Given the description of an element on the screen output the (x, y) to click on. 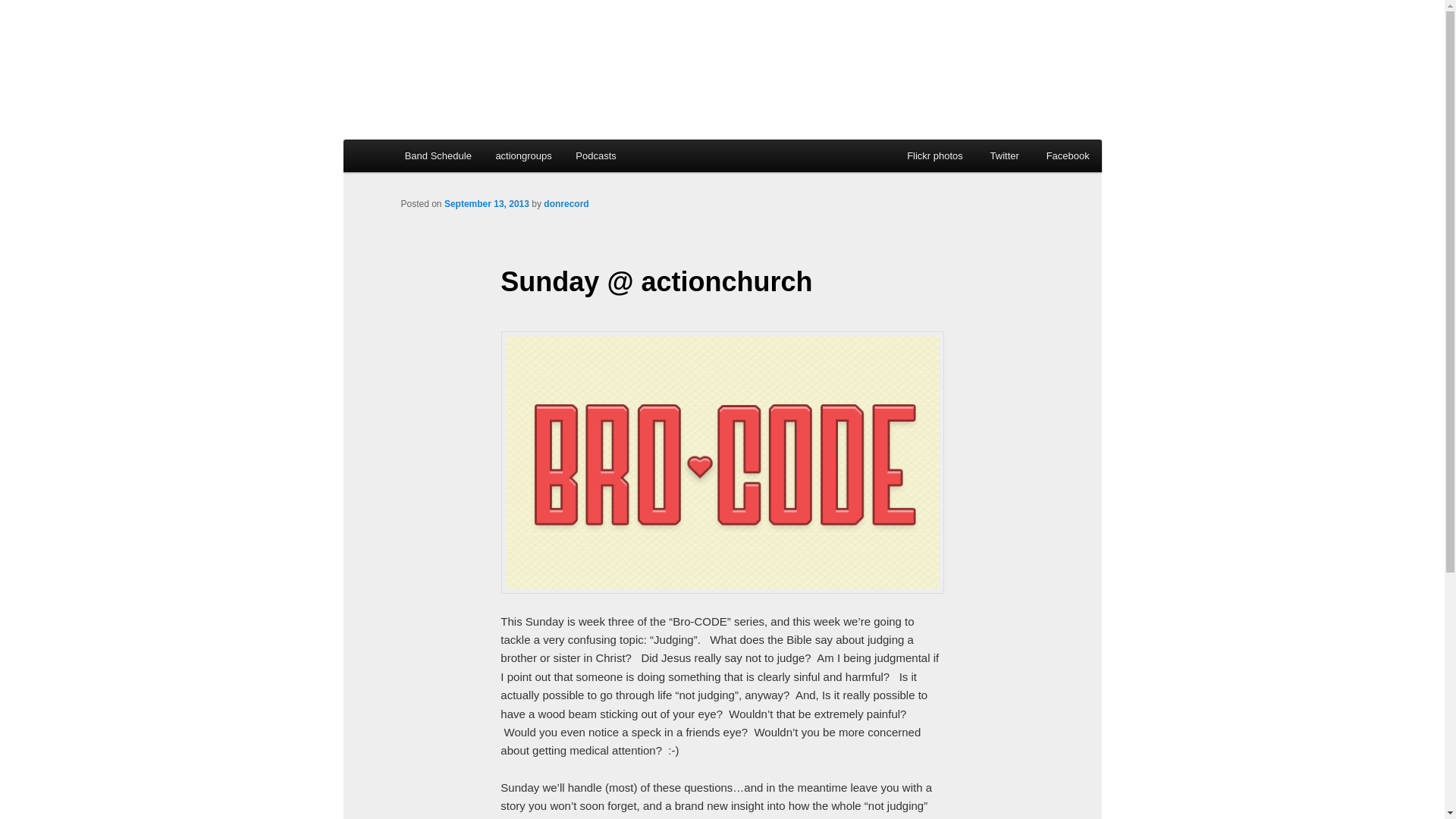
Twitter (1010, 155)
September 13, 2013 (486, 204)
Band Schedule (438, 155)
Facebook (1074, 155)
View all posts by donrecord (565, 204)
Skip to primary content (472, 158)
Flickr photos (940, 155)
actionchurch (490, 66)
Podcasts (596, 155)
7:03 am (486, 204)
